Given the description of an element on the screen output the (x, y) to click on. 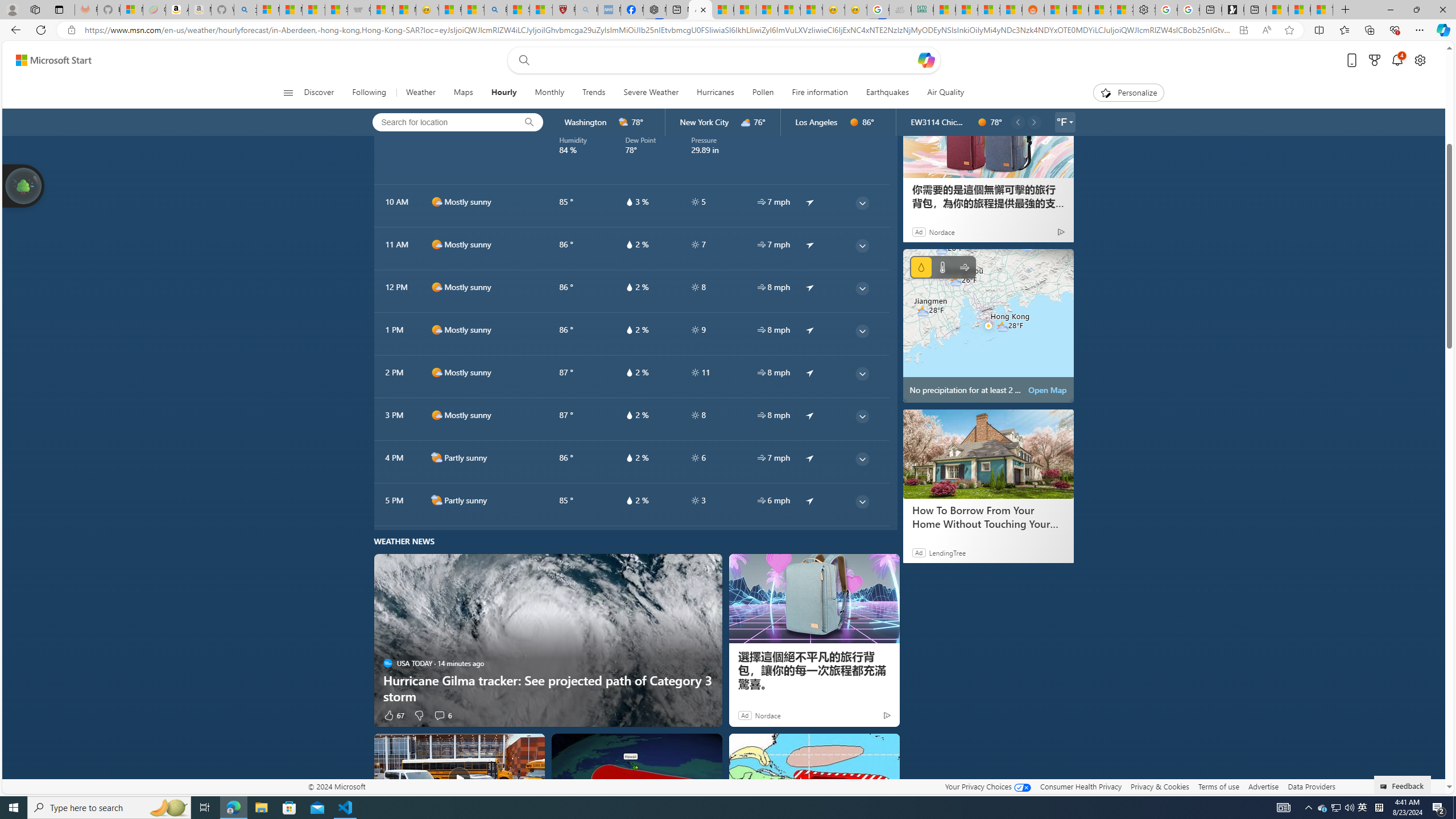
d1000 (436, 414)
Hurricanes (715, 92)
Data Providers (1311, 785)
hourlyTable/uv (694, 500)
locationBar/search (529, 121)
locationBar/triangle (1070, 122)
